Given the description of an element on the screen output the (x, y) to click on. 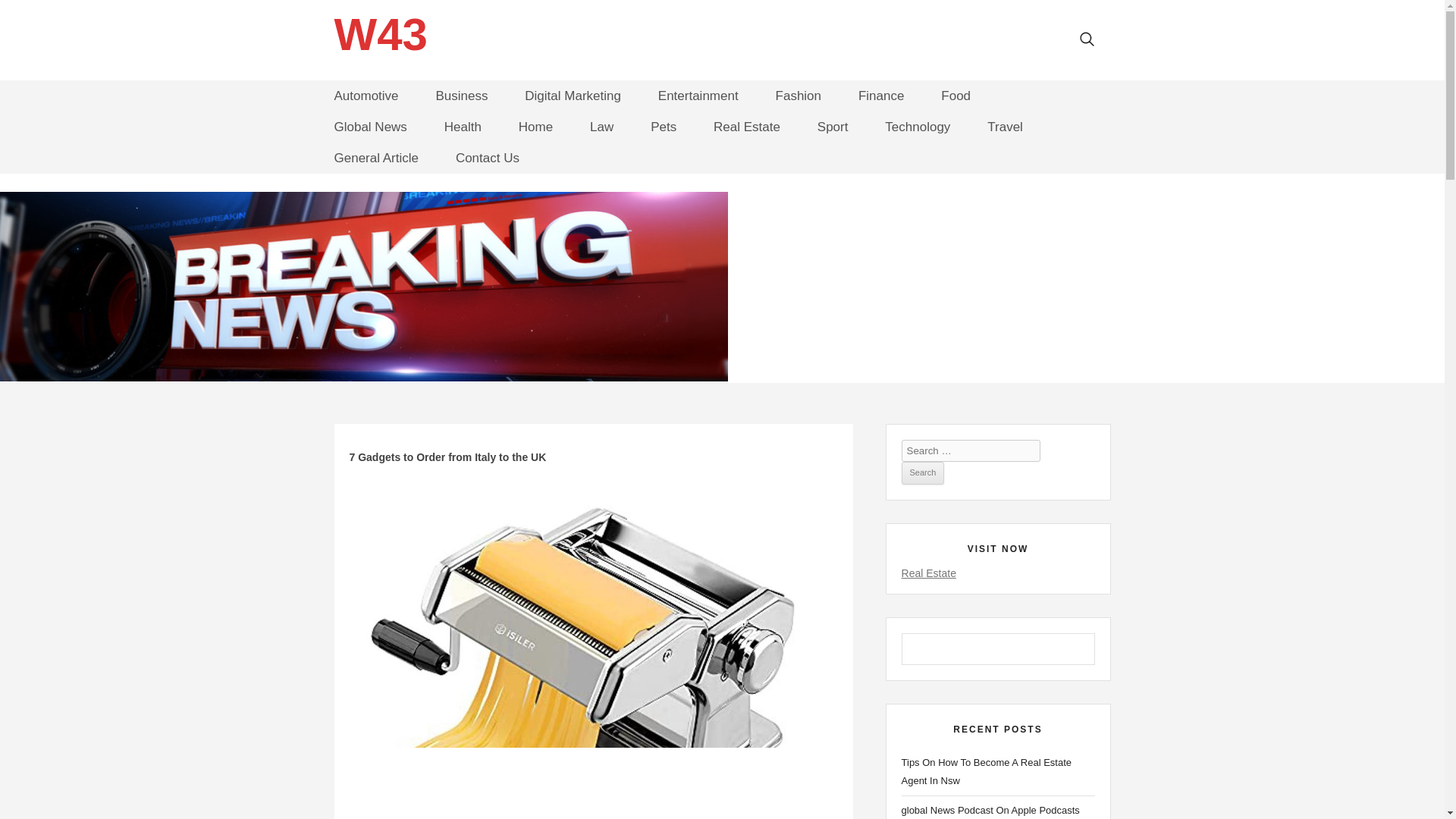
Automotive (365, 95)
W43 (379, 34)
Search (922, 472)
